Given the description of an element on the screen output the (x, y) to click on. 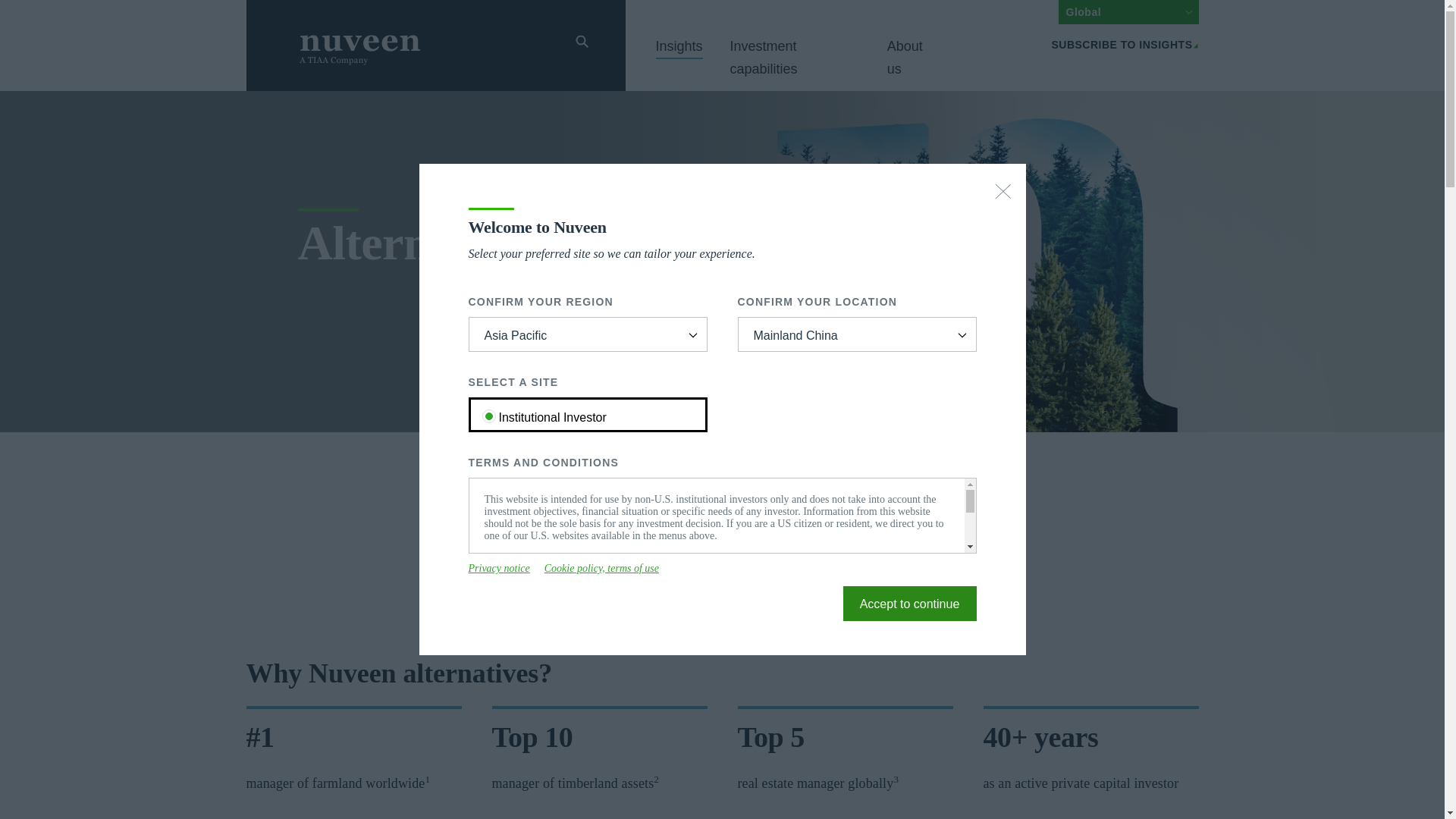
opens in a new window (561, 604)
Privacy notice (498, 568)
Skip to main content (236, 9)
Accept to continue (909, 603)
opens in the same window (909, 603)
opens in a new window (601, 568)
Global (1128, 12)
Cookie policy, terms of use (601, 568)
opens in a new window (498, 568)
SUBSCRIBE TO INSIGHTS (1124, 44)
